Given the description of an element on the screen output the (x, y) to click on. 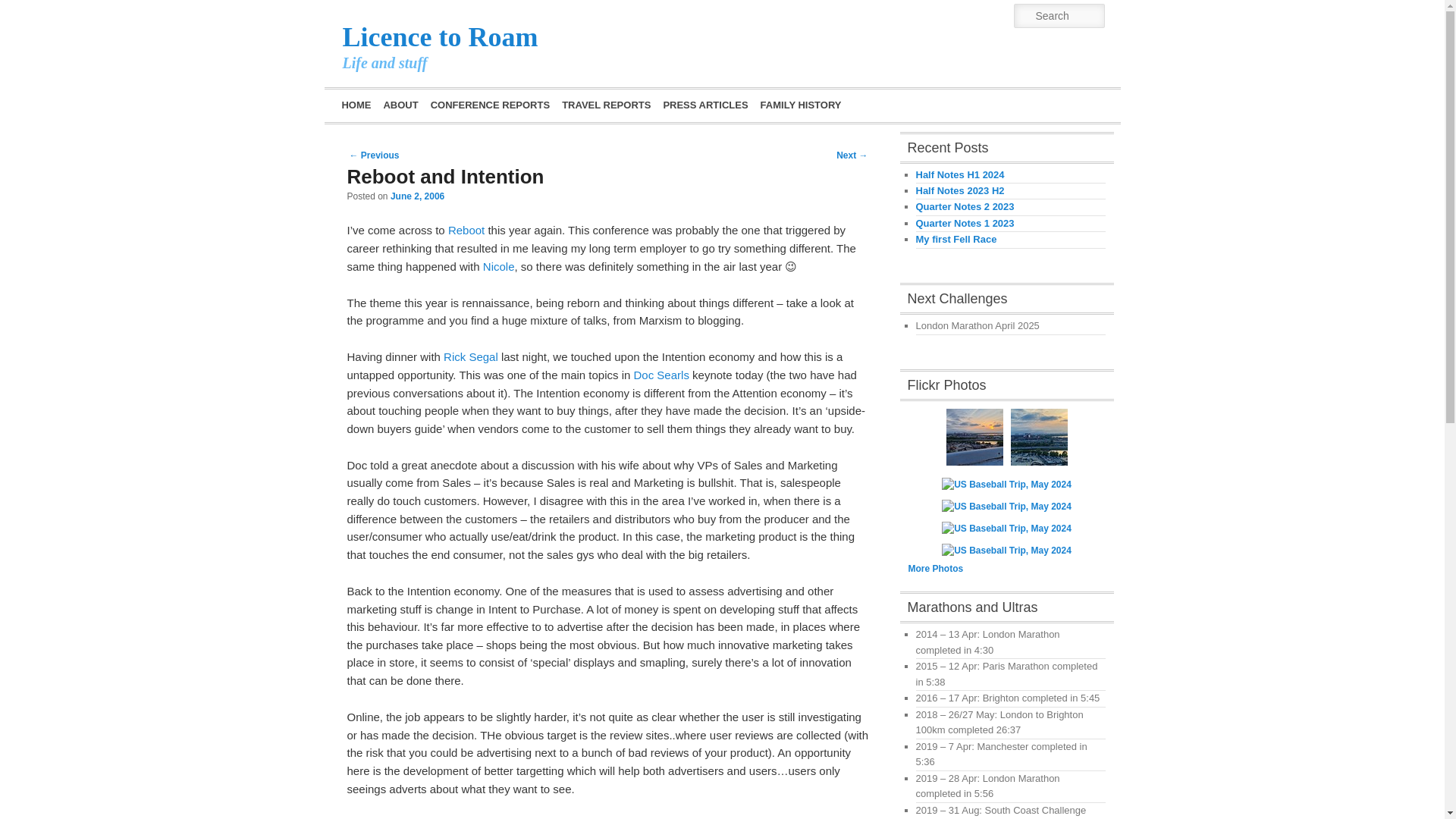
Half Notes 2023 H2 (959, 190)
2:50 pm (417, 195)
Skip to primary content (420, 103)
HOME (355, 105)
US Baseball Trip, May 2024 (974, 437)
FAMILY HISTORY (800, 105)
CONFERENCE REPORTS (490, 105)
PRESS ARTICLES (705, 105)
Licence to Roam (440, 37)
Quarter Notes 2 2023 (964, 206)
SKIP TO SECONDARY CONTENT (430, 103)
Nicole (499, 266)
Quarter Notes 1 2023 (964, 223)
US Baseball Trip, May 2024 (1038, 437)
Rick Segal (470, 356)
